Given the description of an element on the screen output the (x, y) to click on. 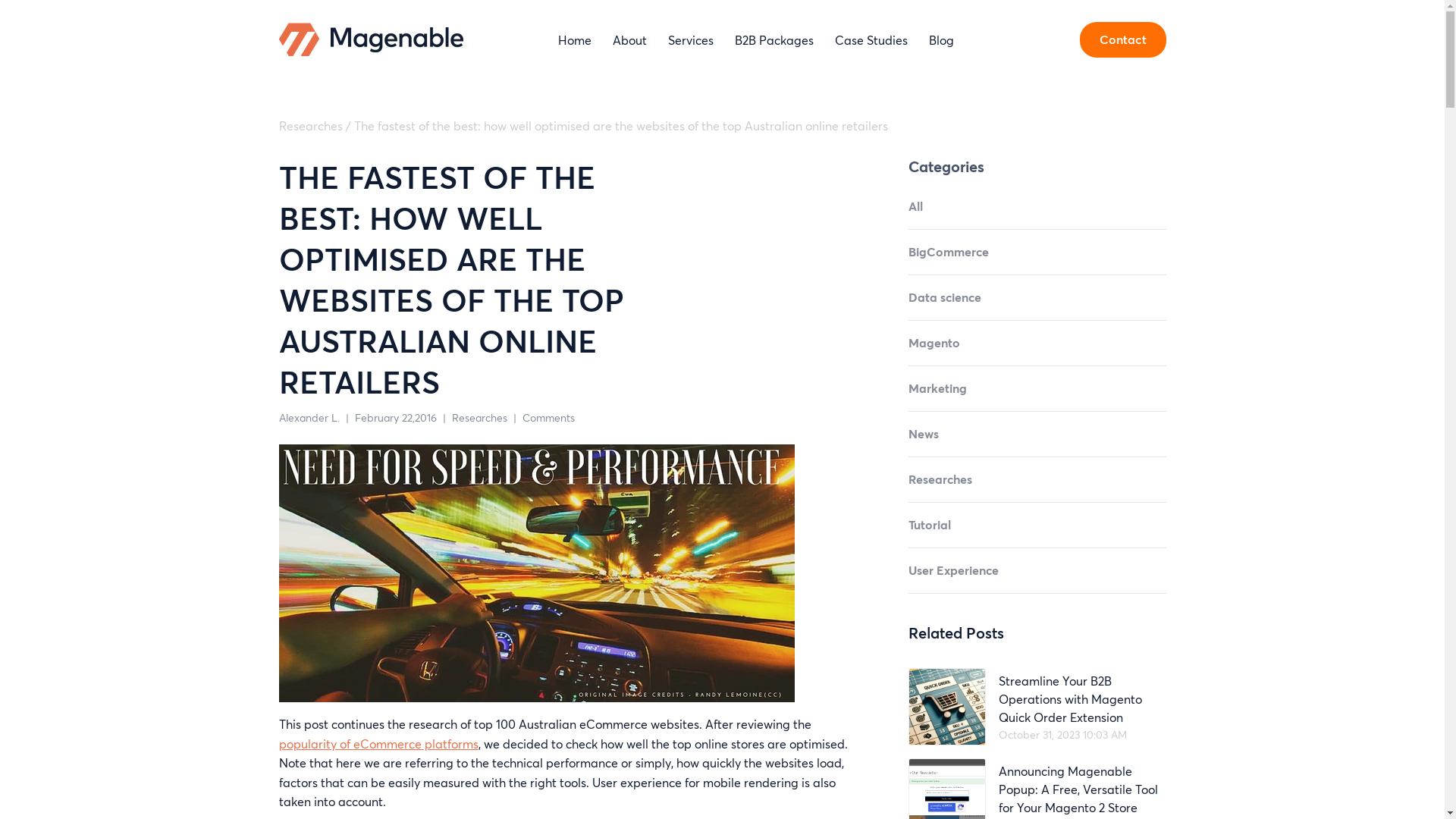
Tutorial Element type: text (1036, 532)
Comments Element type: text (547, 417)
Alexander L. Element type: text (309, 417)
Contact Element type: text (1122, 39)
BigCommerce Element type: text (1036, 259)
About Element type: text (629, 39)
All Element type: text (1036, 213)
Researches Element type: text (310, 125)
Blog Element type: text (940, 39)
B2B Packages Element type: text (773, 39)
popularity of eCommerce platforms Element type: text (378, 743)
Case Studies Element type: text (870, 39)
Marketing Element type: text (1036, 395)
Data science Element type: text (1036, 304)
Services Element type: text (690, 39)
Researches Element type: text (1036, 486)
User Experience Element type: text (1036, 577)
Magento Element type: text (1036, 350)
Researches Element type: text (479, 417)
Home Element type: text (574, 39)
News Element type: text (1036, 441)
